Given the description of an element on the screen output the (x, y) to click on. 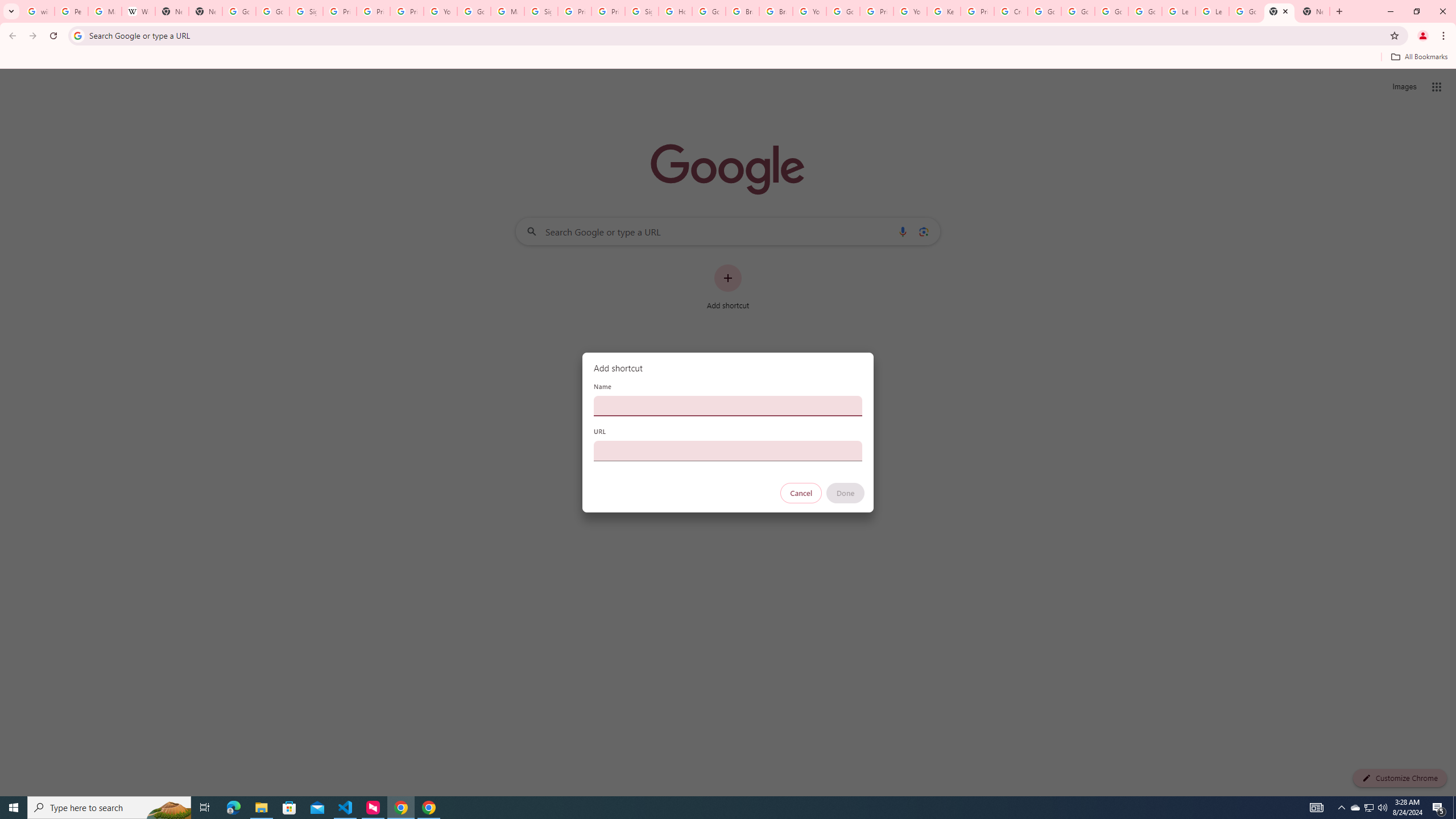
New Tab (205, 11)
Google Account Help (1077, 11)
Google Account Help (1144, 11)
Cancel (801, 493)
Google Account Help (842, 11)
Google Account Help (1111, 11)
